Given the description of an element on the screen output the (x, y) to click on. 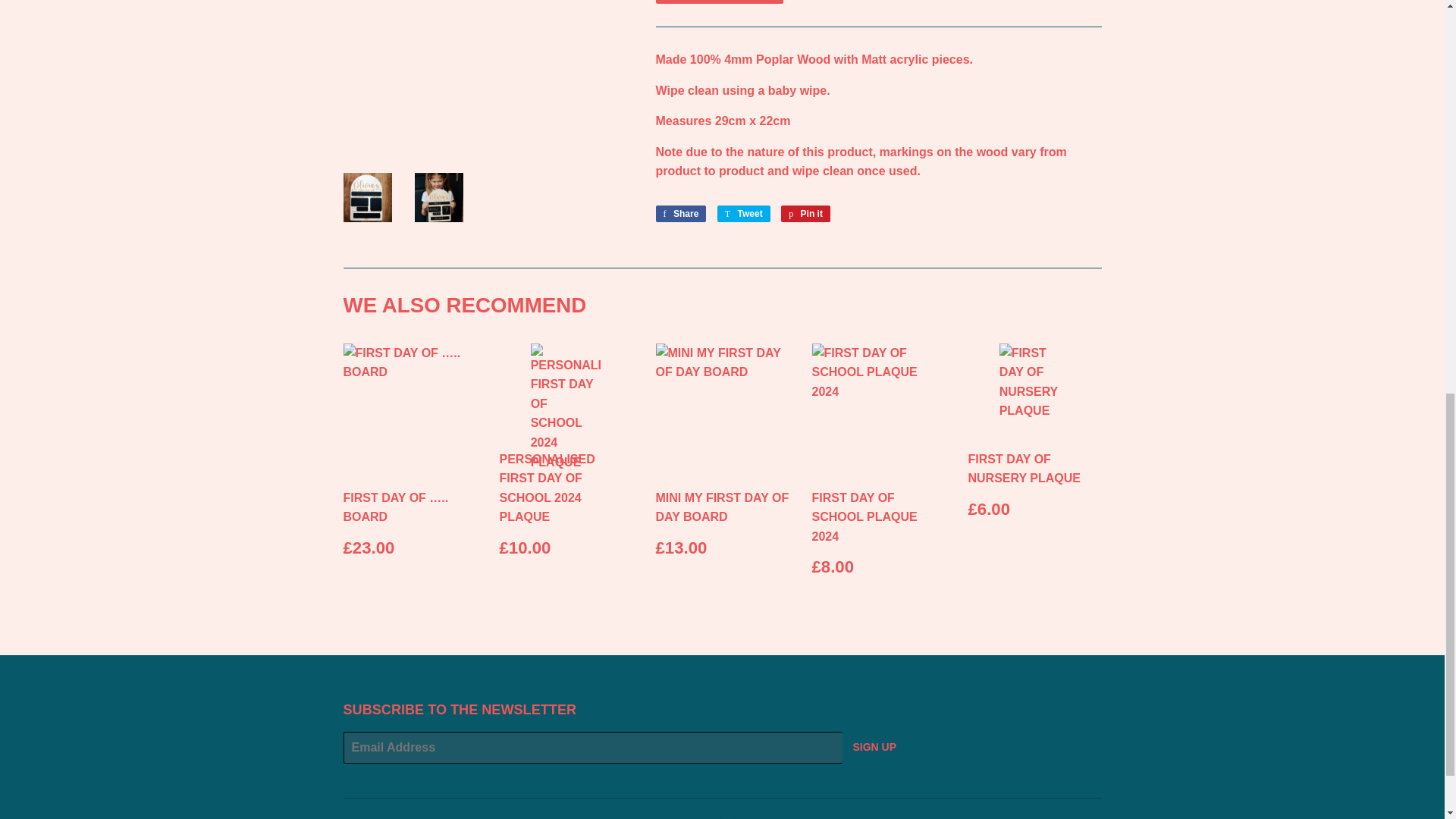
ROSCOE RULES on Pinterest (718, 816)
Share on Facebook (680, 213)
Pin on Pinterest (804, 213)
Tweet on Twitter (743, 213)
